Given the description of an element on the screen output the (x, y) to click on. 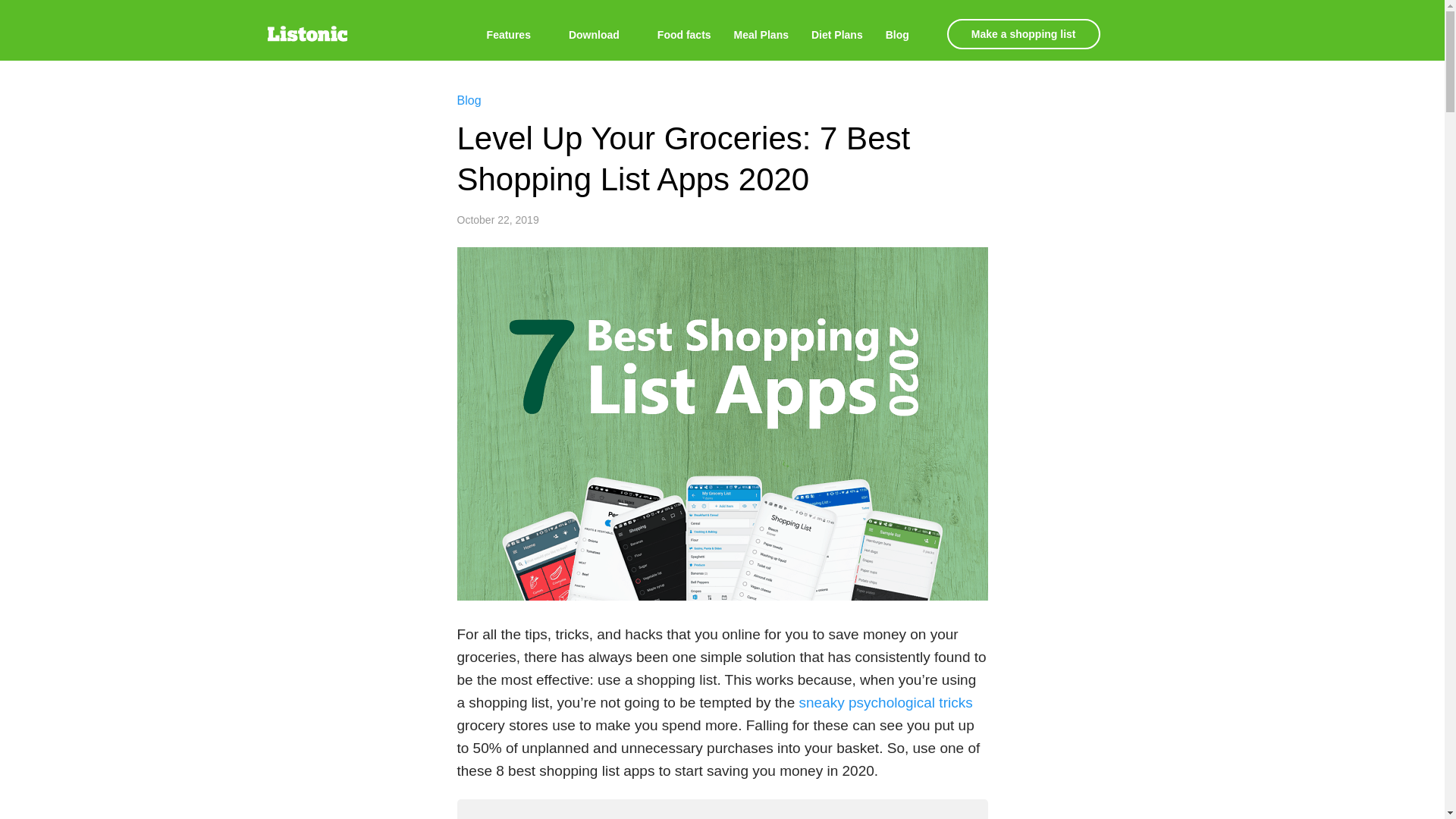
Meal Plans (761, 34)
EU-EN (1145, 34)
Download (601, 34)
Diet Plans (836, 34)
Blog (904, 34)
sneaky psychological tricks (885, 702)
Food facts (684, 34)
Blog (468, 100)
Make a shopping list (1023, 33)
Features (516, 34)
